Given the description of an element on the screen output the (x, y) to click on. 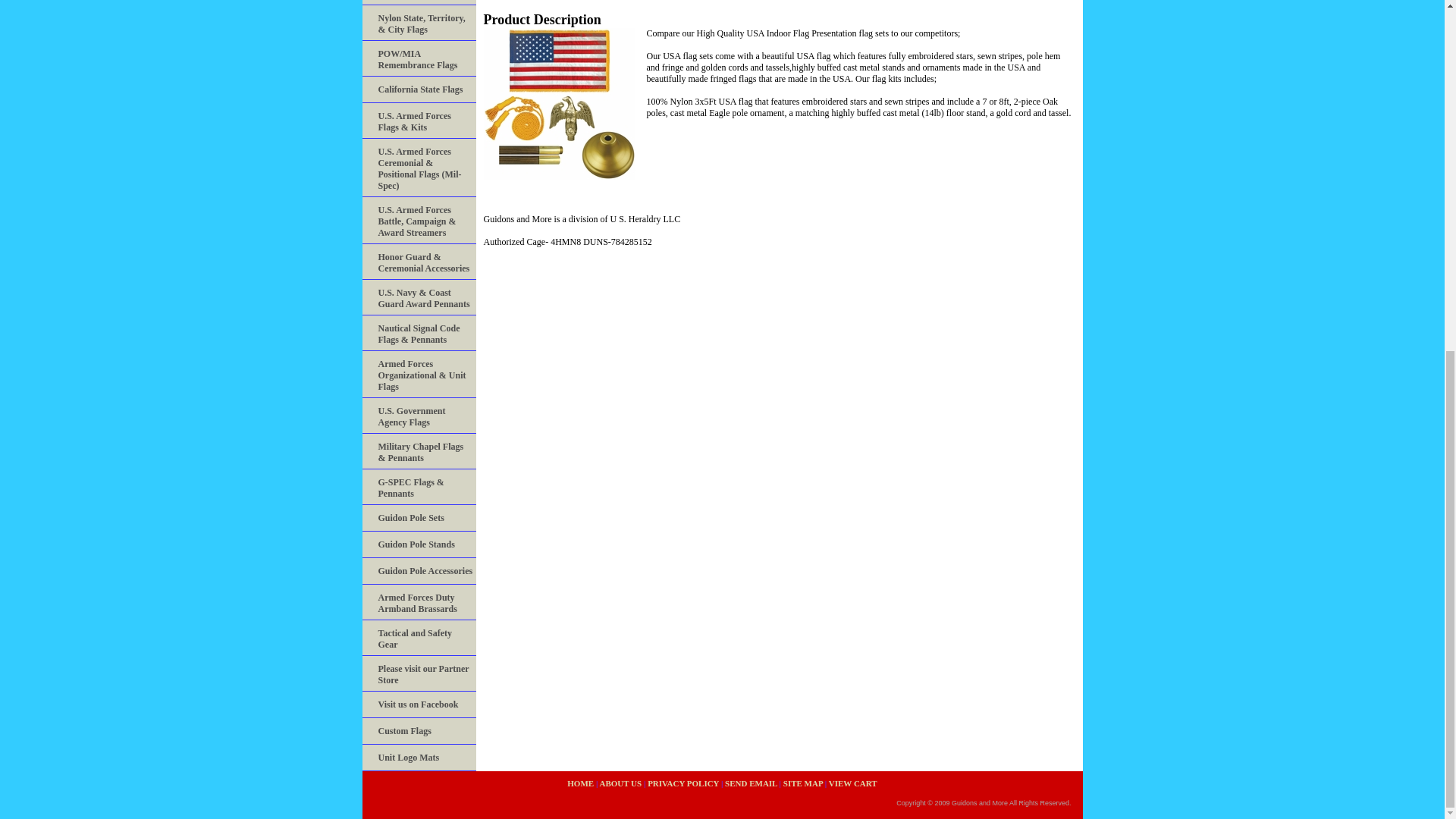
California State Flags (419, 89)
Please visit our Partner Store (419, 673)
U.S. Government Agency Flags (419, 416)
Armed Forces Duty Armband Brassards (419, 601)
Guidon Pole Sets (419, 518)
Tactical and Safety Gear (419, 637)
Guidon Pole Stands (419, 544)
California State Flags (419, 89)
Visit us on Facebook (419, 704)
Guidon Pole Accessories (419, 570)
